Given the description of an element on the screen output the (x, y) to click on. 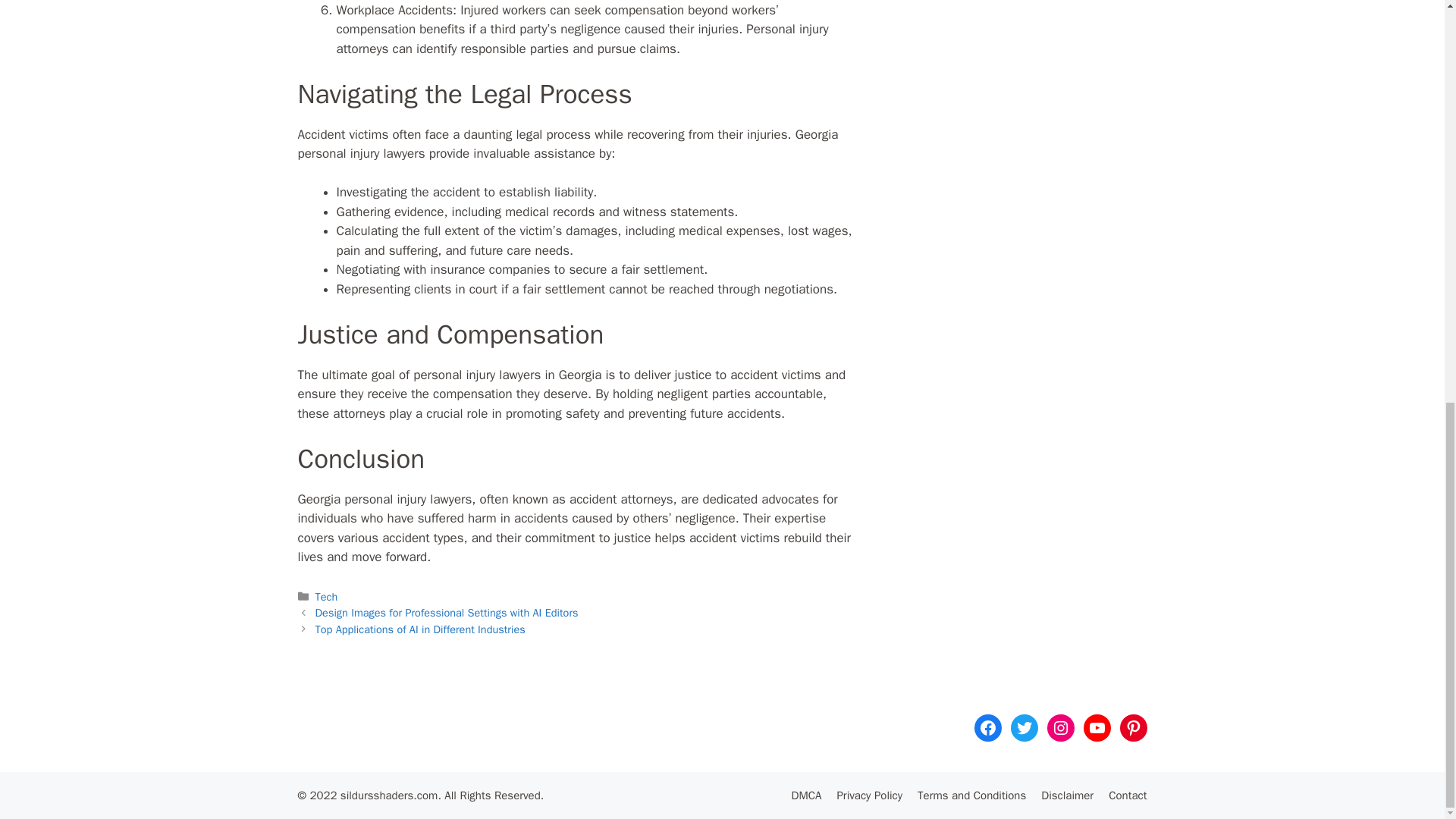
Privacy Policy (868, 795)
Design Images for Professional Settings with AI Editors (446, 612)
Facebook (987, 728)
Pinterest (1133, 728)
Instagram (1060, 728)
Twitter (1024, 728)
DMCA (807, 795)
Top Applications of AI in Different Industries (420, 629)
Contact (1127, 795)
YouTube (1096, 728)
Disclaimer (1067, 795)
Terms and Conditions (971, 795)
Tech (326, 596)
